Given the description of an element on the screen output the (x, y) to click on. 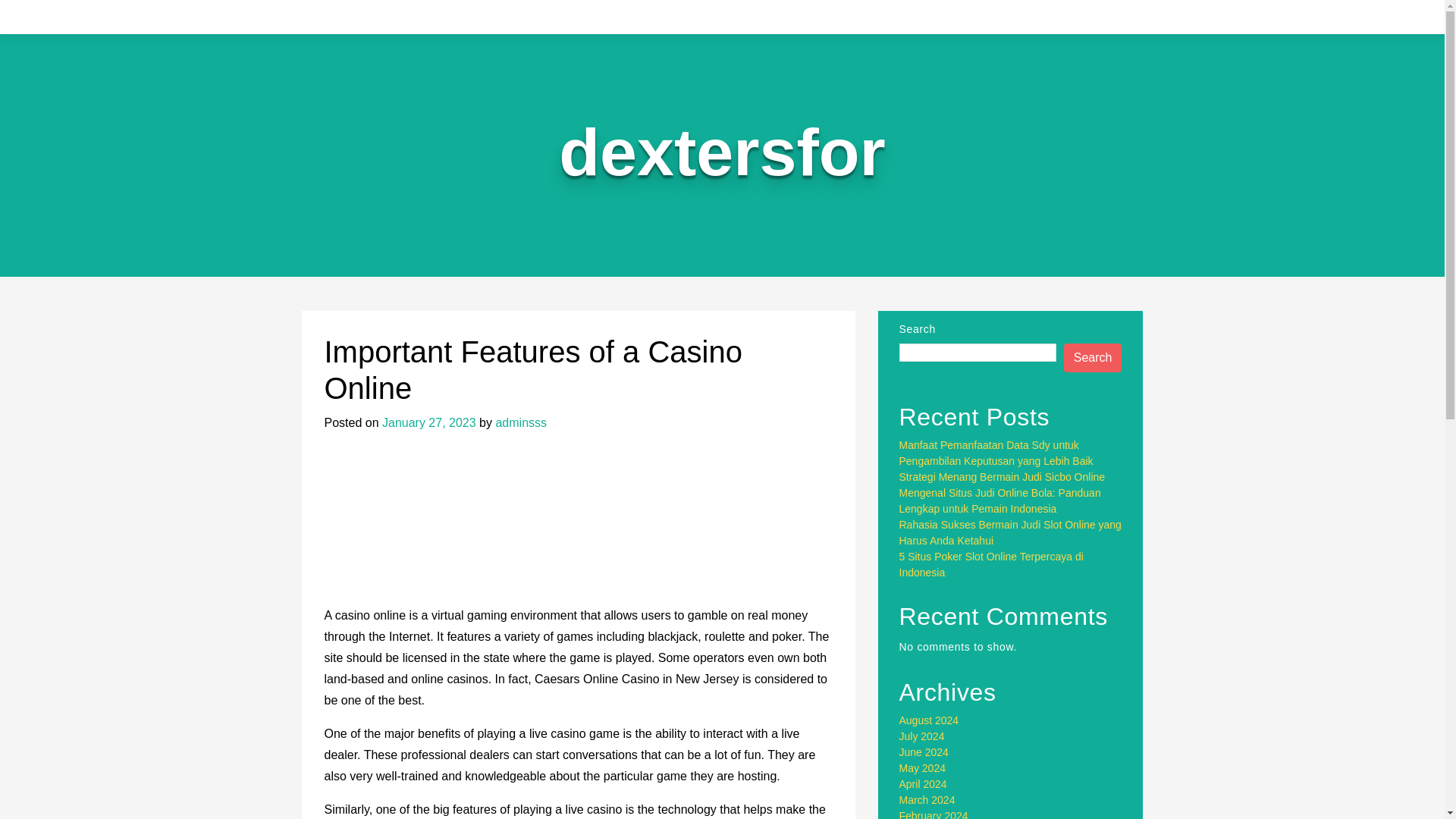
January 27, 2023 (428, 422)
February 2024 (933, 814)
April 2024 (923, 784)
August 2024 (929, 720)
March 2024 (927, 799)
Search (1093, 357)
Strategi Menang Bermain Judi Sicbo Online (1002, 476)
5 Situs Poker Slot Online Terpercaya di Indonesia (991, 564)
